Given the description of an element on the screen output the (x, y) to click on. 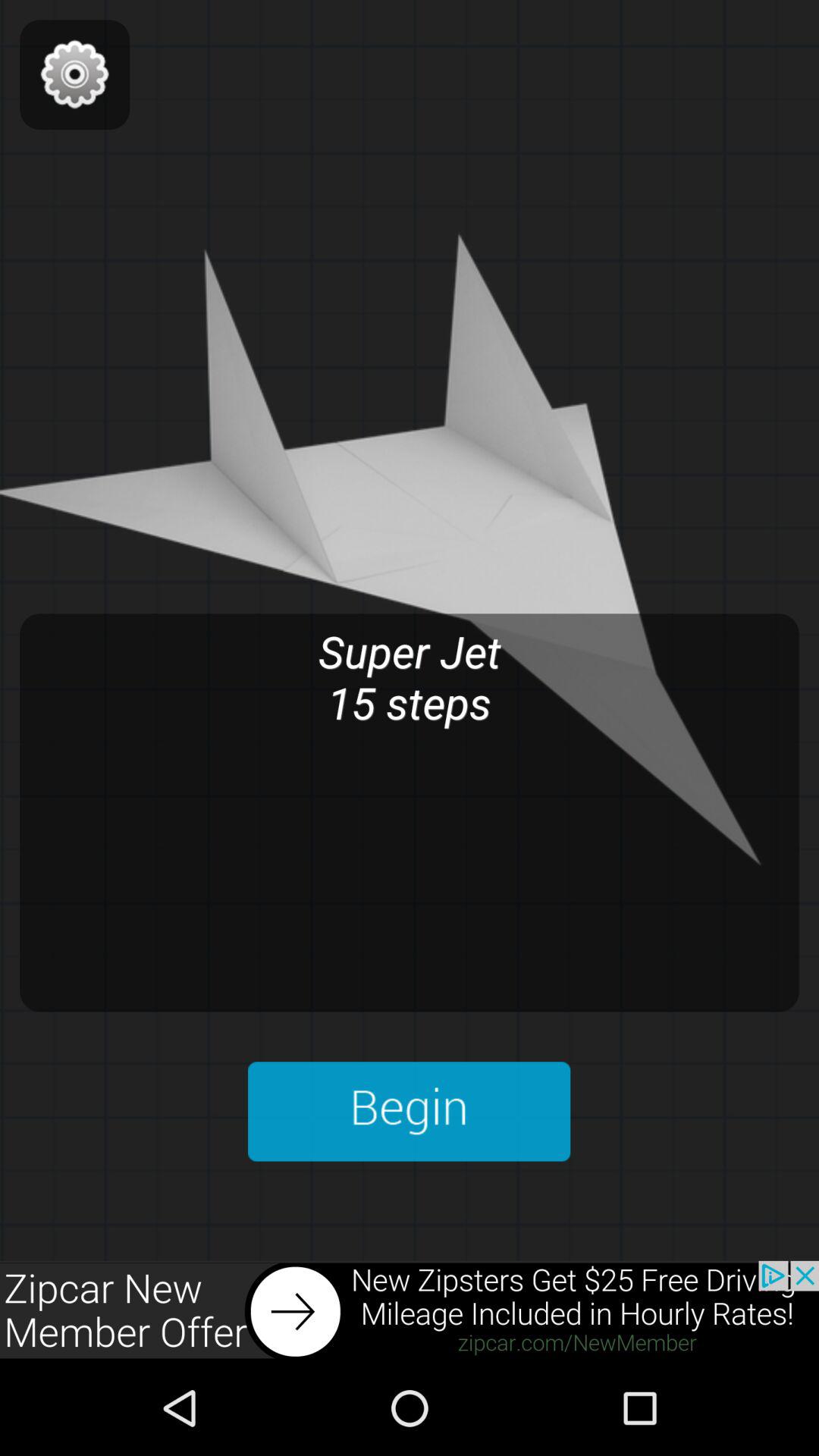
go to next (409, 1310)
